Given the description of an element on the screen output the (x, y) to click on. 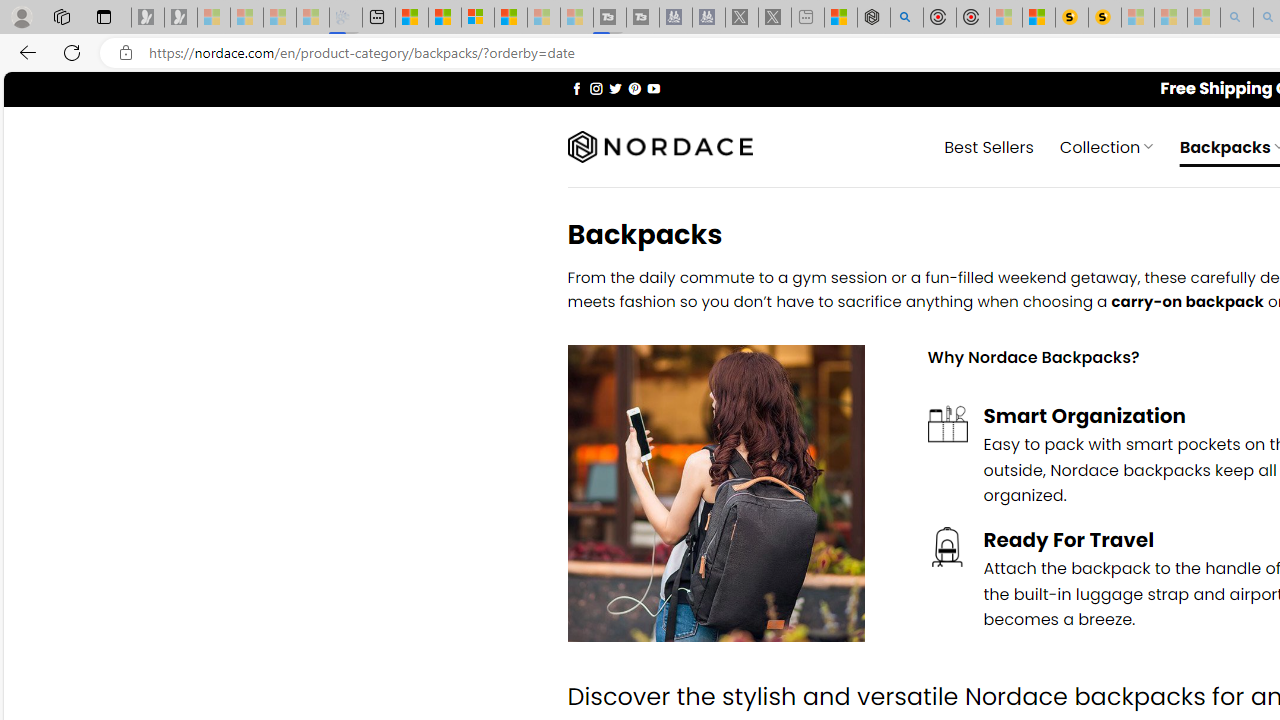
 Best Sellers (989, 146)
  Best Sellers (989, 146)
Newsletter Sign Up - Sleeping (181, 17)
Follow on Pinterest (634, 88)
